Given the description of an element on the screen output the (x, y) to click on. 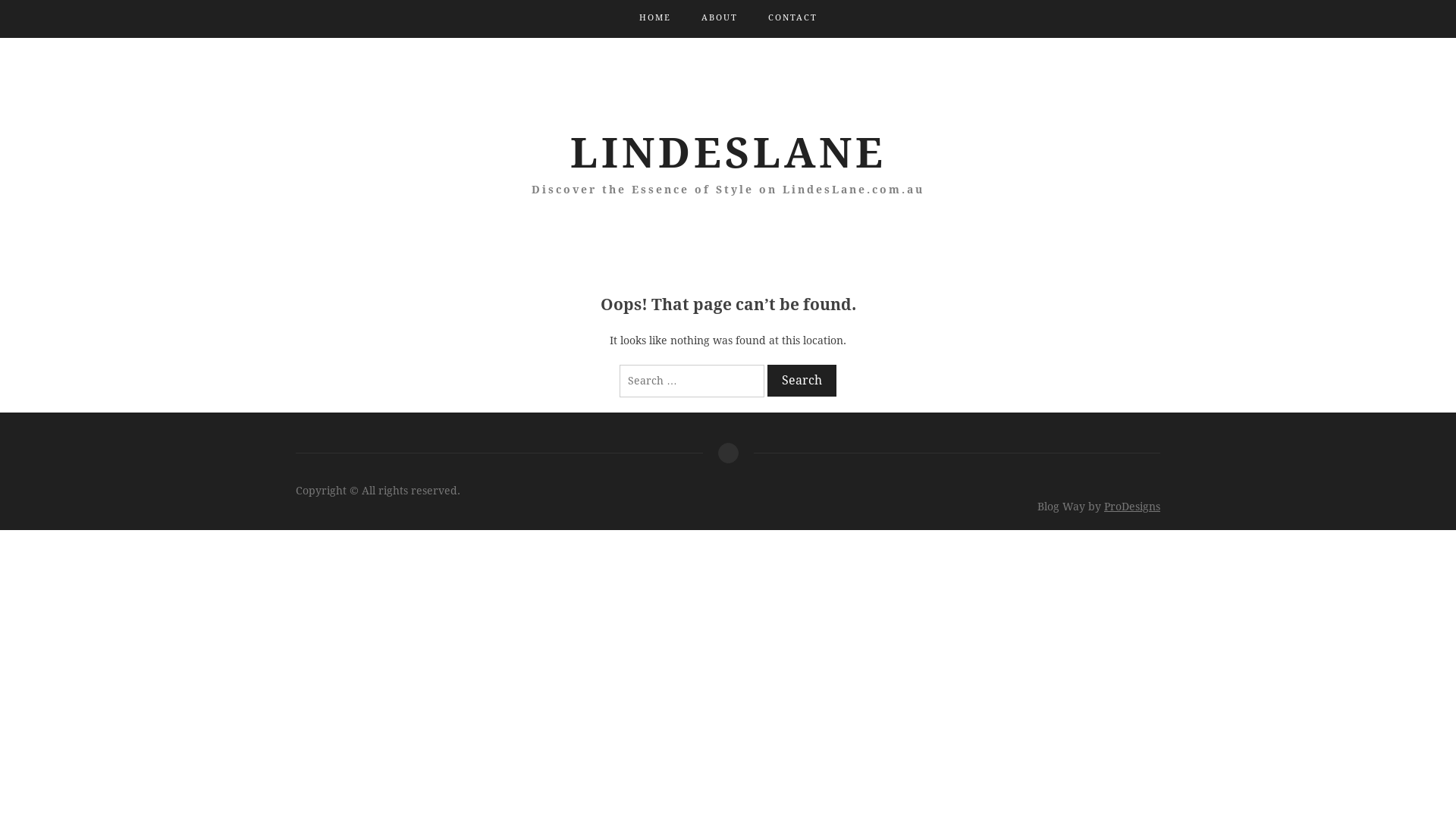
ABOUT Element type: text (718, 18)
ProDesigns Element type: text (1132, 506)
LINDESLANE Element type: text (728, 152)
Search Element type: text (801, 379)
HOME Element type: text (654, 18)
CONTACT Element type: text (791, 18)
Privacy Policy Element type: text (727, 452)
